Given the description of an element on the screen output the (x, y) to click on. 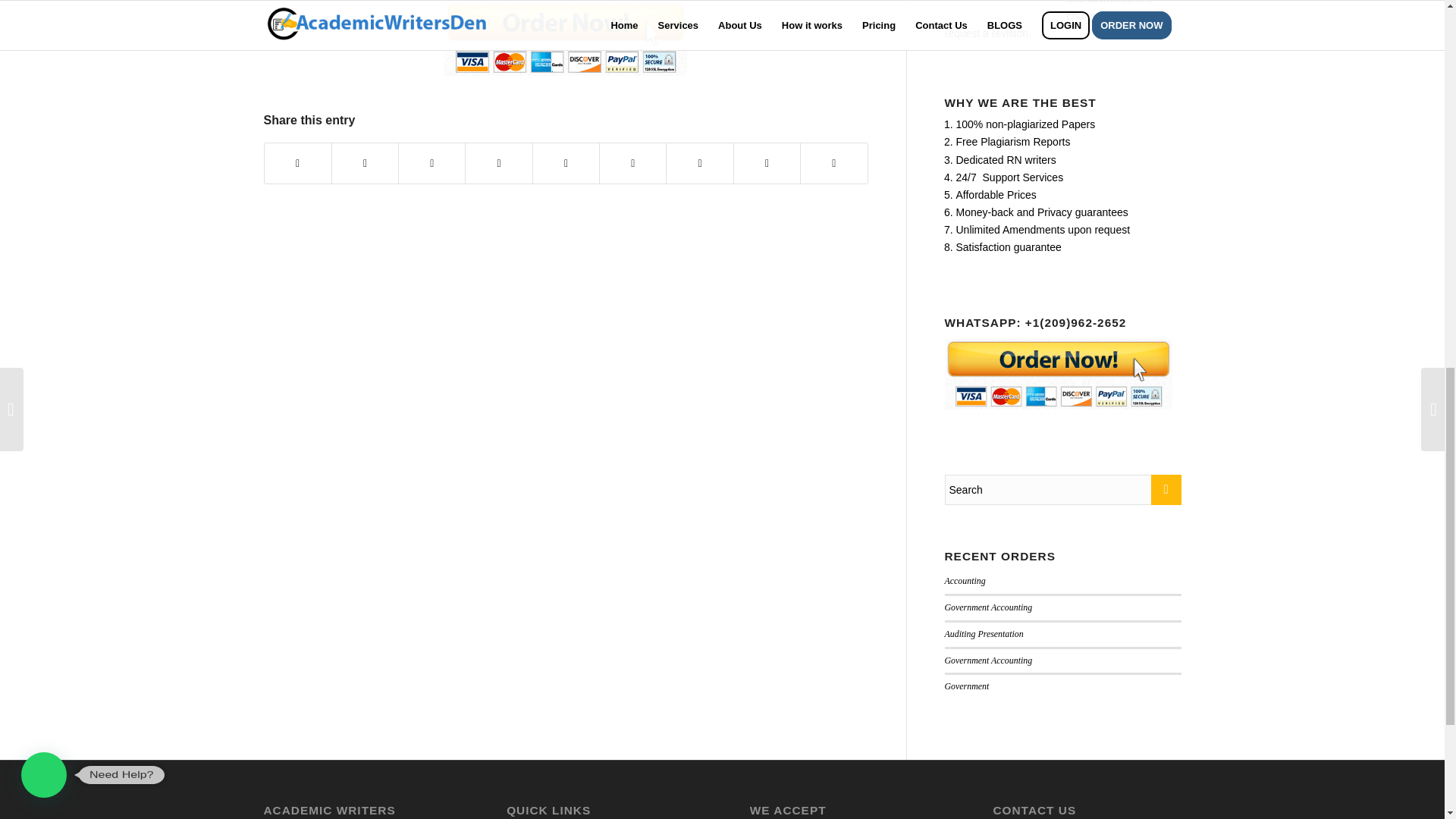
Government Accounting (988, 660)
Accounting (964, 580)
Government (967, 685)
Auditing Presentation (983, 633)
Government Accounting (988, 606)
